Given the description of an element on the screen output the (x, y) to click on. 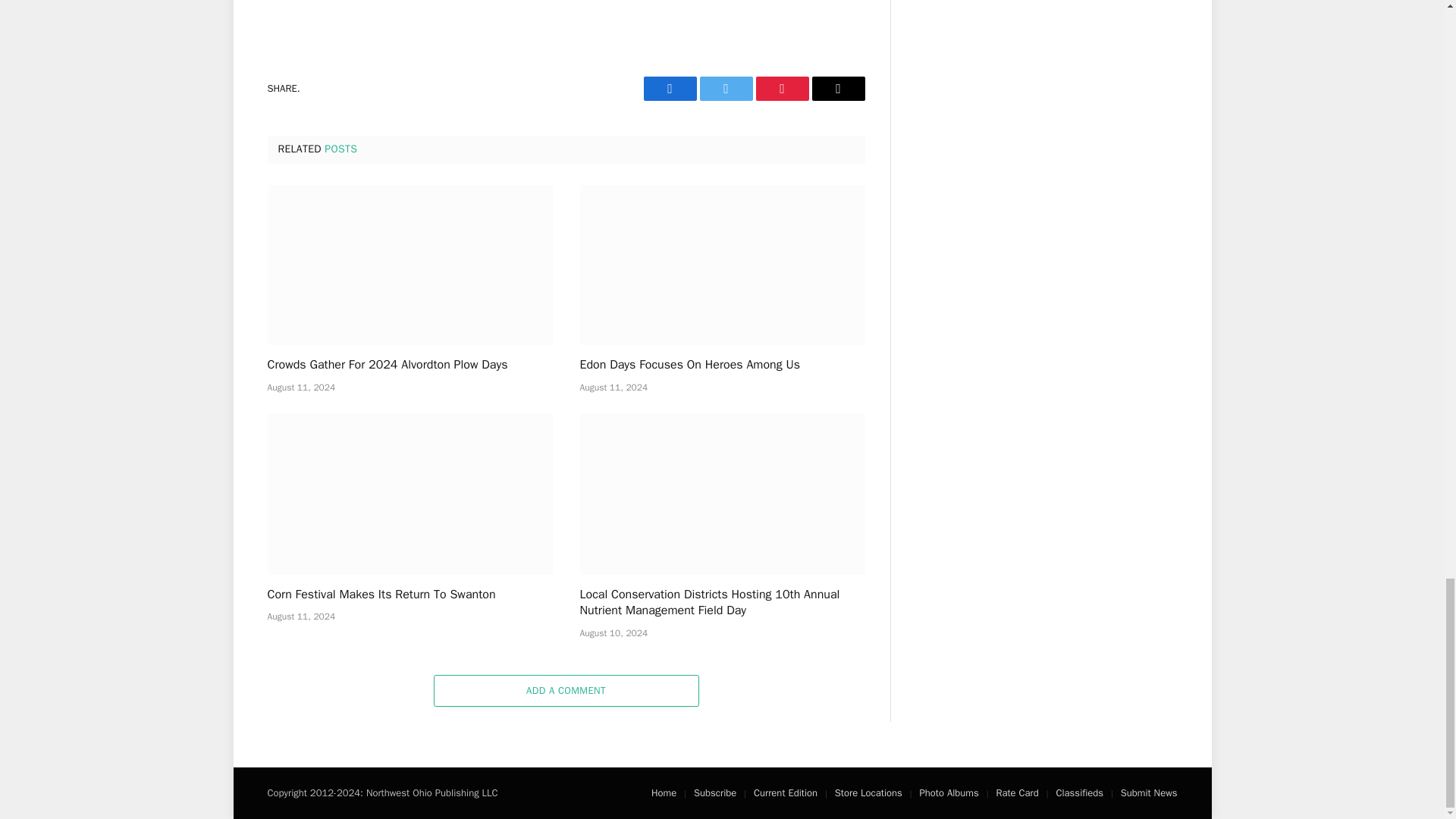
Share on Facebook (669, 88)
Share on Pinterest (781, 88)
Crowds Gather For 2024 Alvordton Plow Days (408, 265)
Edon Days Focuses On Heroes Among Us (721, 265)
Share via Email (837, 88)
Corn Festival Makes Its Return To Swanton (408, 494)
